Given the description of an element on the screen output the (x, y) to click on. 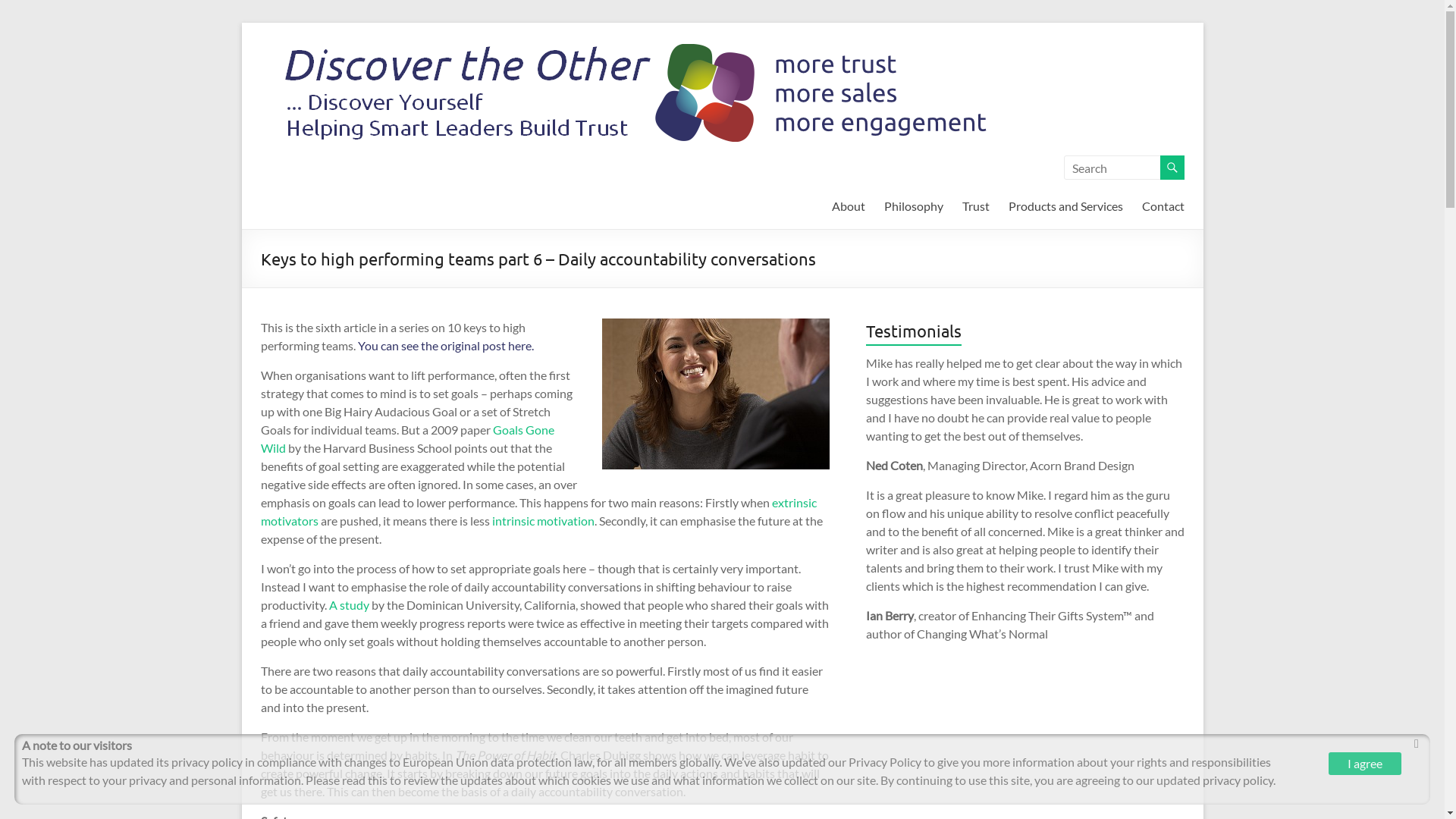
intrinsic motivation Element type: text (542, 520)
A study Element type: text (349, 604)
Discover The Other Element type: text (311, 83)
I agree Element type: text (1364, 763)
Products and Services Element type: text (1065, 205)
Contact Element type: text (1163, 205)
Philosophy Element type: text (913, 205)
About Element type: text (847, 205)
Skip to content Element type: text (241, 21)
extrinsic motivators Element type: text (538, 511)
Goals Gone Wild Element type: text (407, 438)
Trust Element type: text (974, 205)
You can see the original post here. Element type: text (445, 345)
